Given the description of an element on the screen output the (x, y) to click on. 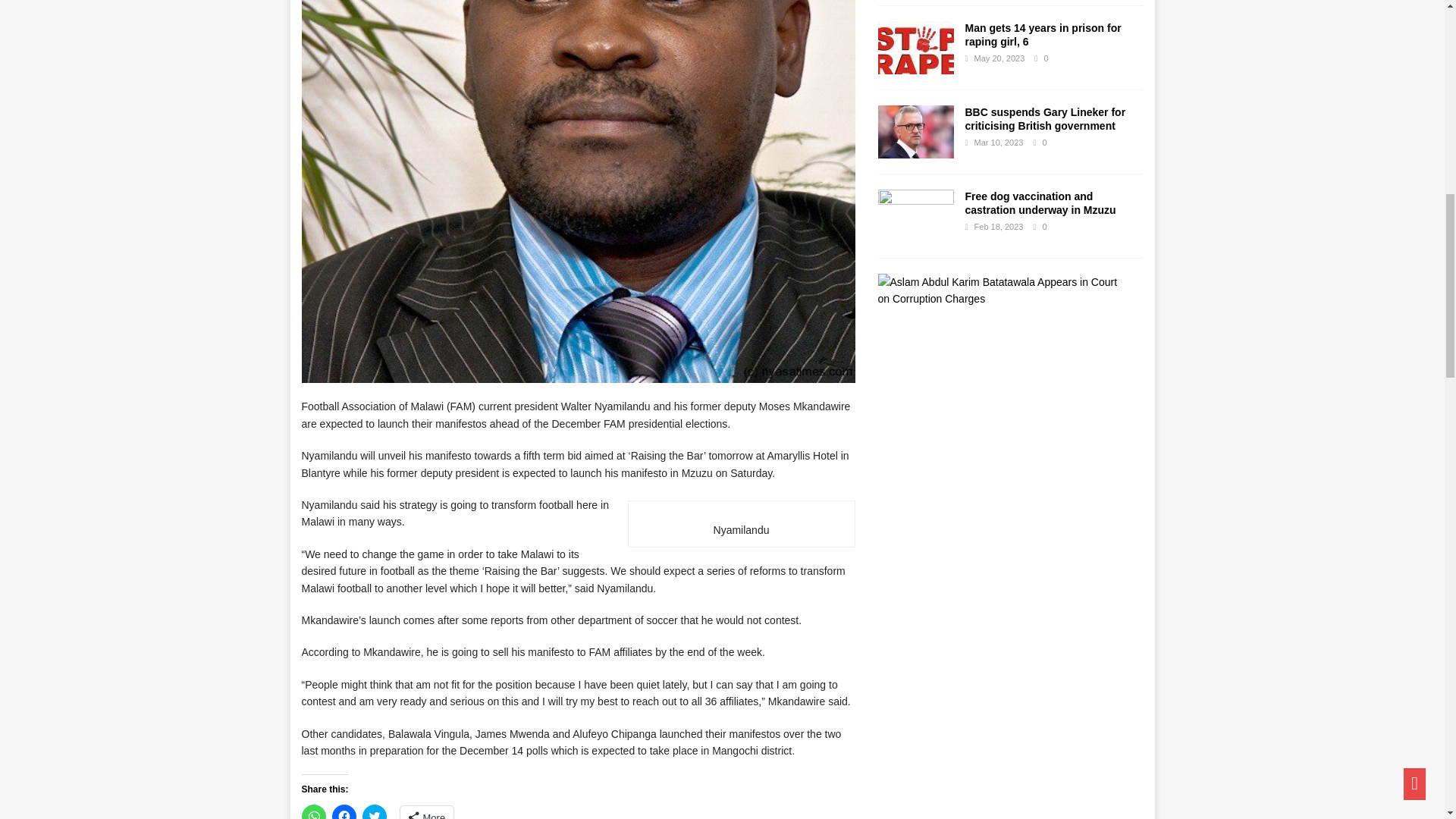
Click to share on Twitter (374, 811)
Click to share on WhatsApp (313, 811)
Click to share on Facebook (343, 811)
